Given the description of an element on the screen output the (x, y) to click on. 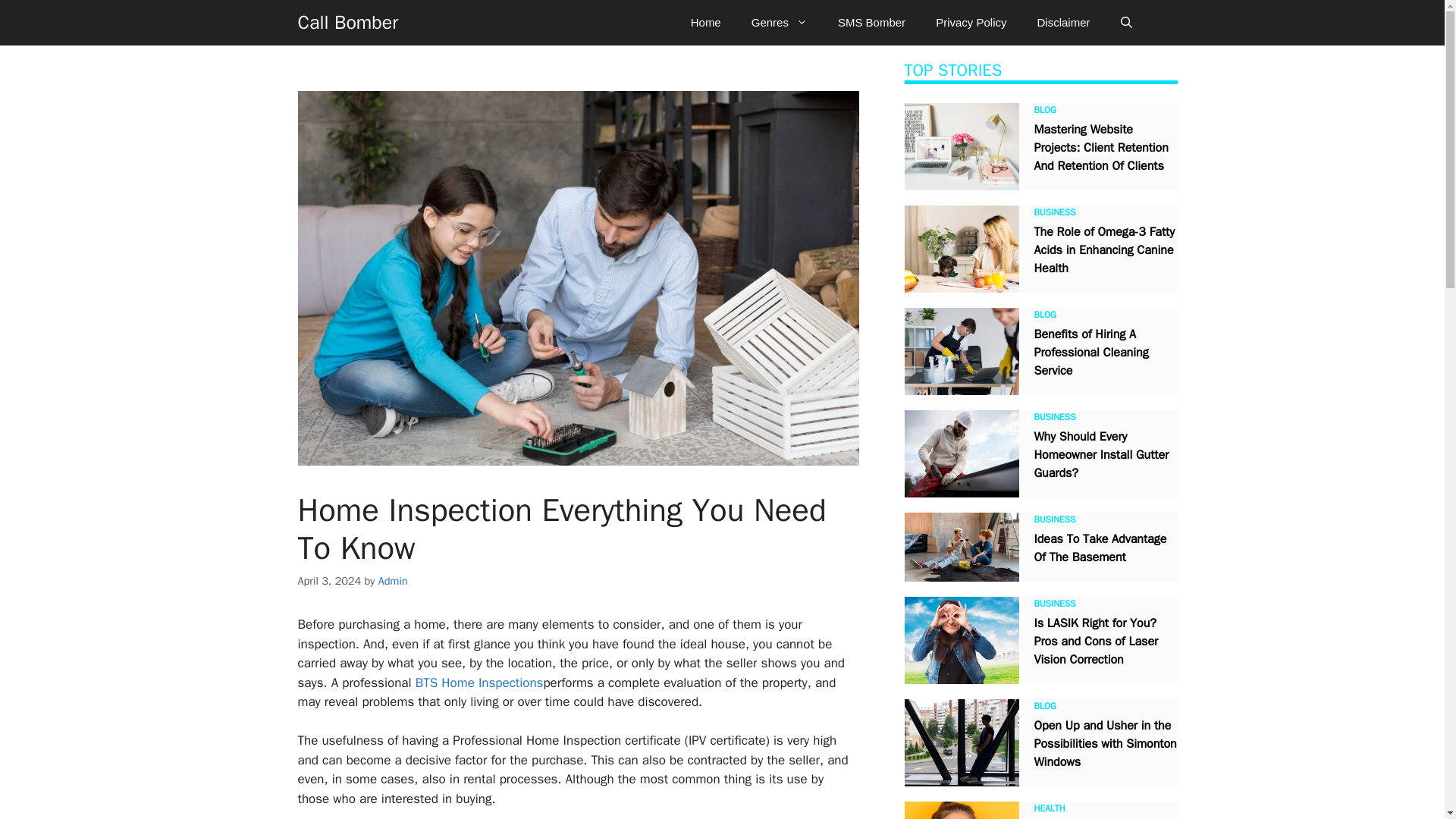
Home (705, 22)
View all posts by Admin (392, 581)
BTS Home Inspections (478, 682)
BLOG (1045, 314)
BUSINESS (1054, 212)
SMS Bomber (871, 22)
Genres (779, 22)
Call Bomber (347, 22)
Privacy Policy (971, 22)
The Role of Omega-3 Fatty Acids in Enhancing Canine Health (1103, 250)
Benefits of Hiring A Professional Cleaning Service (1090, 352)
Disclaimer (1063, 22)
BLOG (1045, 110)
Admin (392, 581)
